Given the description of an element on the screen output the (x, y) to click on. 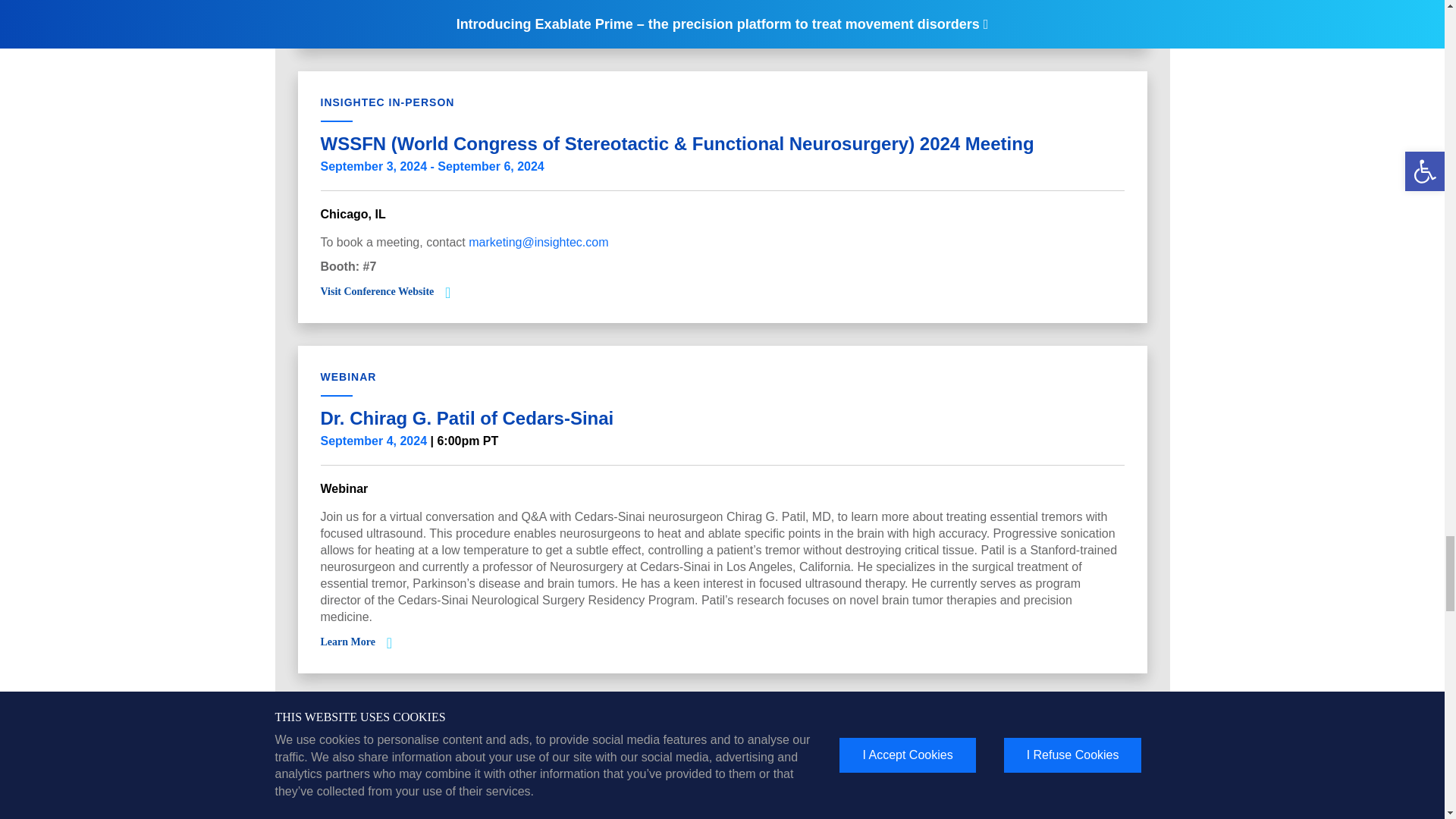
Learn More (347, 16)
